Given the description of an element on the screen output the (x, y) to click on. 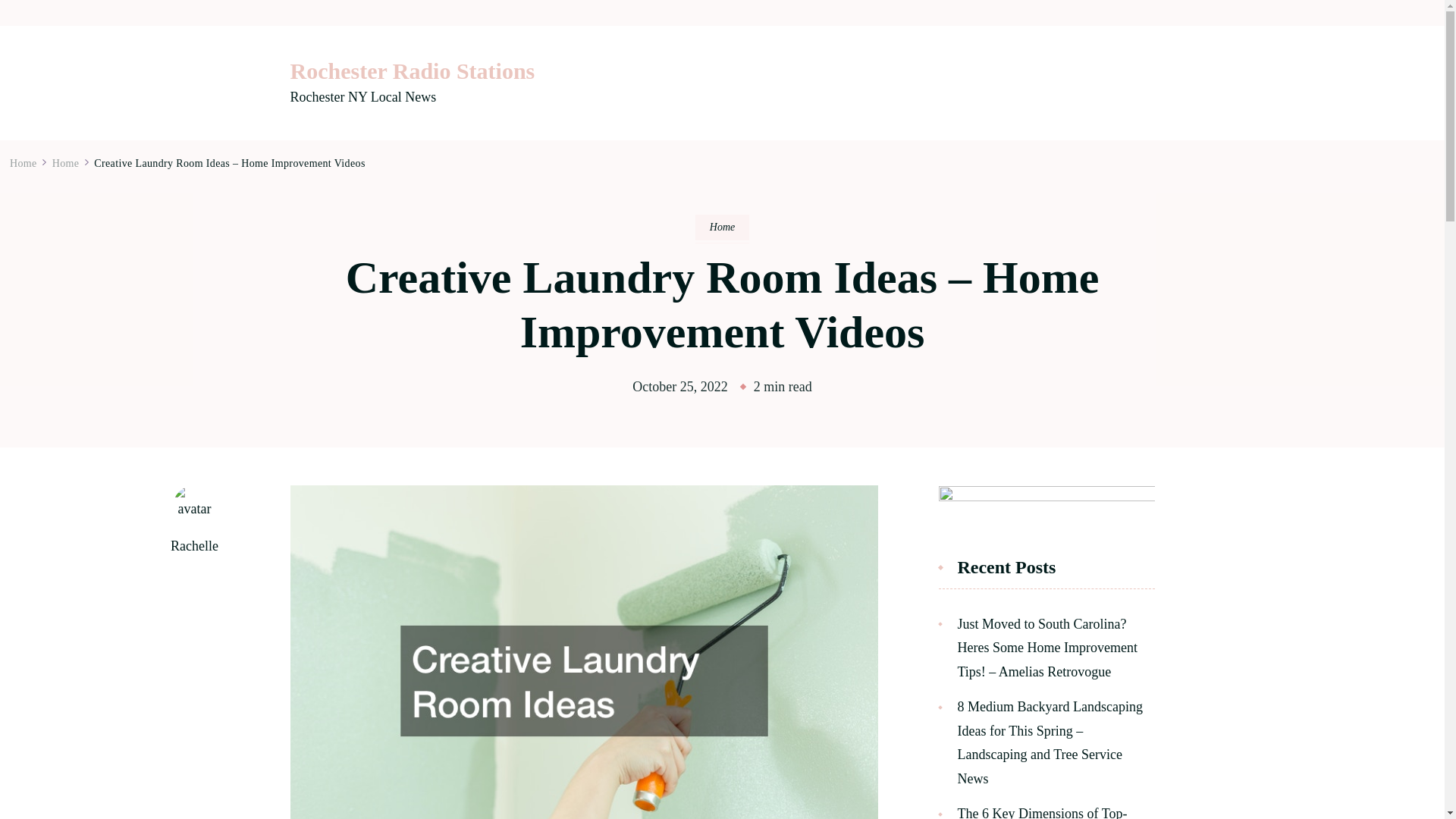
Rachelle (194, 546)
Rochester Radio Stations (411, 70)
Home (23, 163)
Home (66, 163)
Home (722, 227)
October 25, 2022 (678, 386)
